Given the description of an element on the screen output the (x, y) to click on. 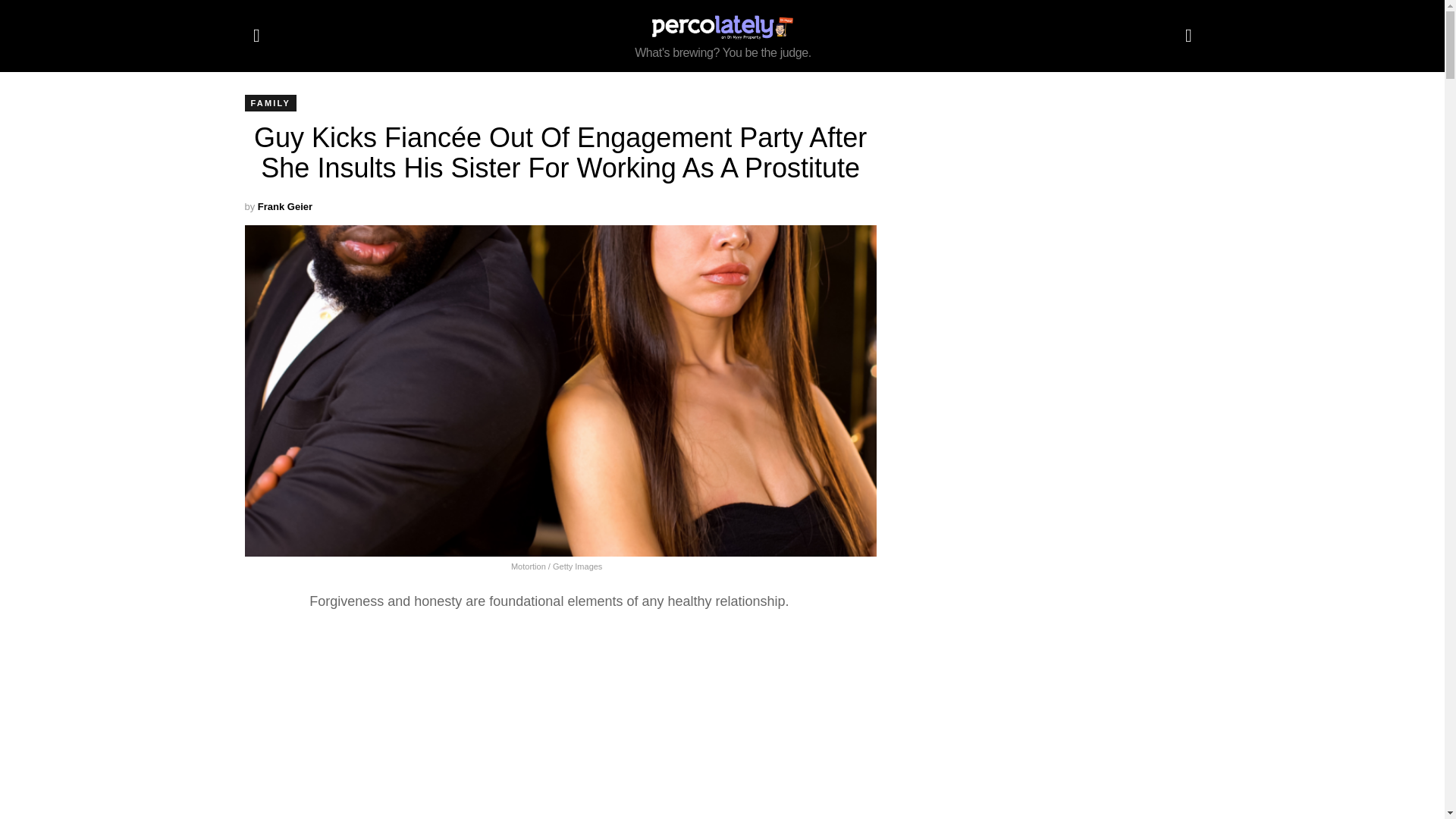
Frank Geier (285, 206)
Posts by Frank Geier (285, 206)
FAMILY (270, 103)
